Given the description of an element on the screen output the (x, y) to click on. 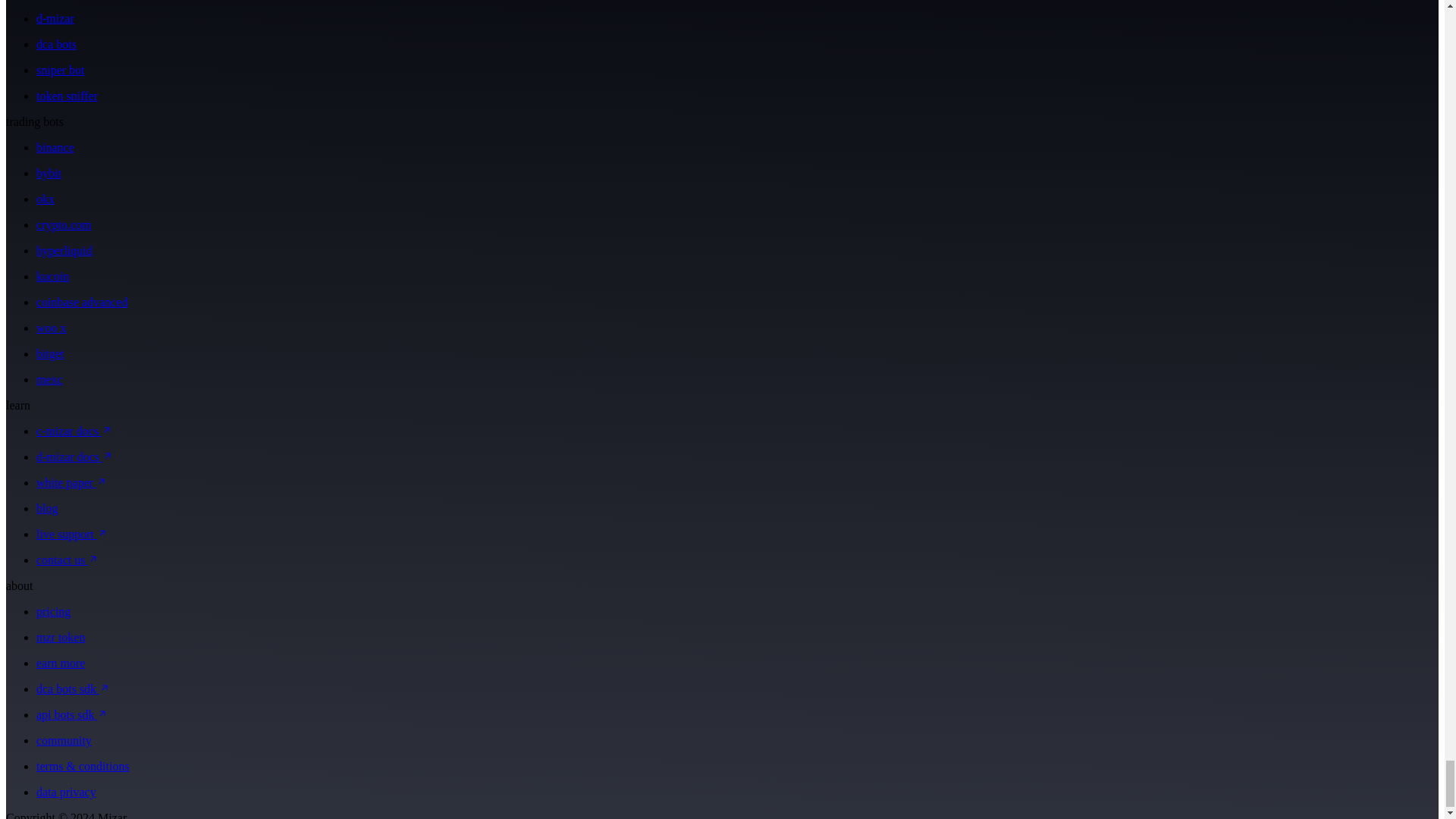
d-mizar (55, 18)
token sniffer (66, 95)
sniper bot (60, 69)
dca bots (56, 43)
